Given the description of an element on the screen output the (x, y) to click on. 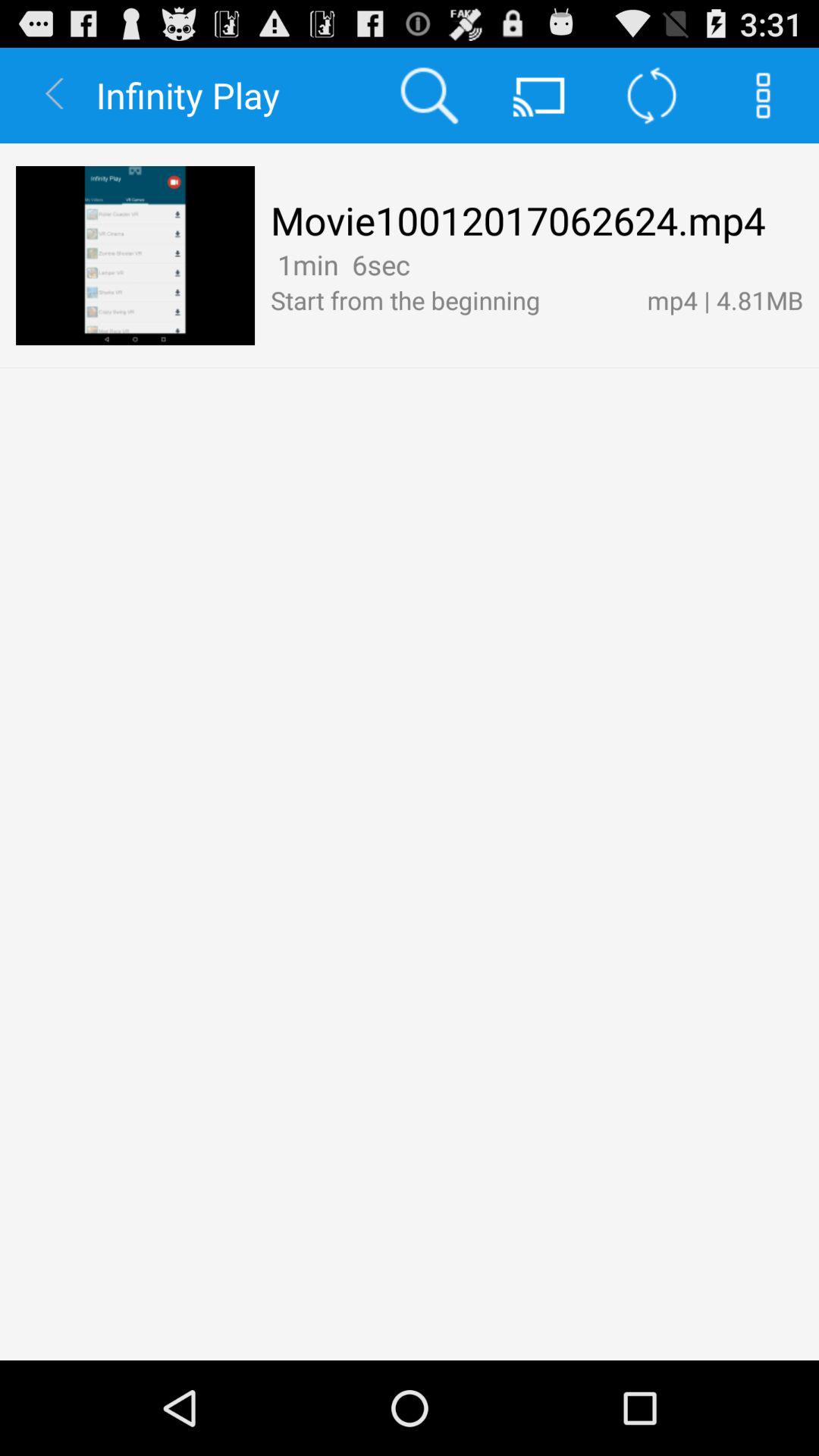
turn off the item next to the mp4 | 4.81mb icon (421, 264)
